Given the description of an element on the screen output the (x, y) to click on. 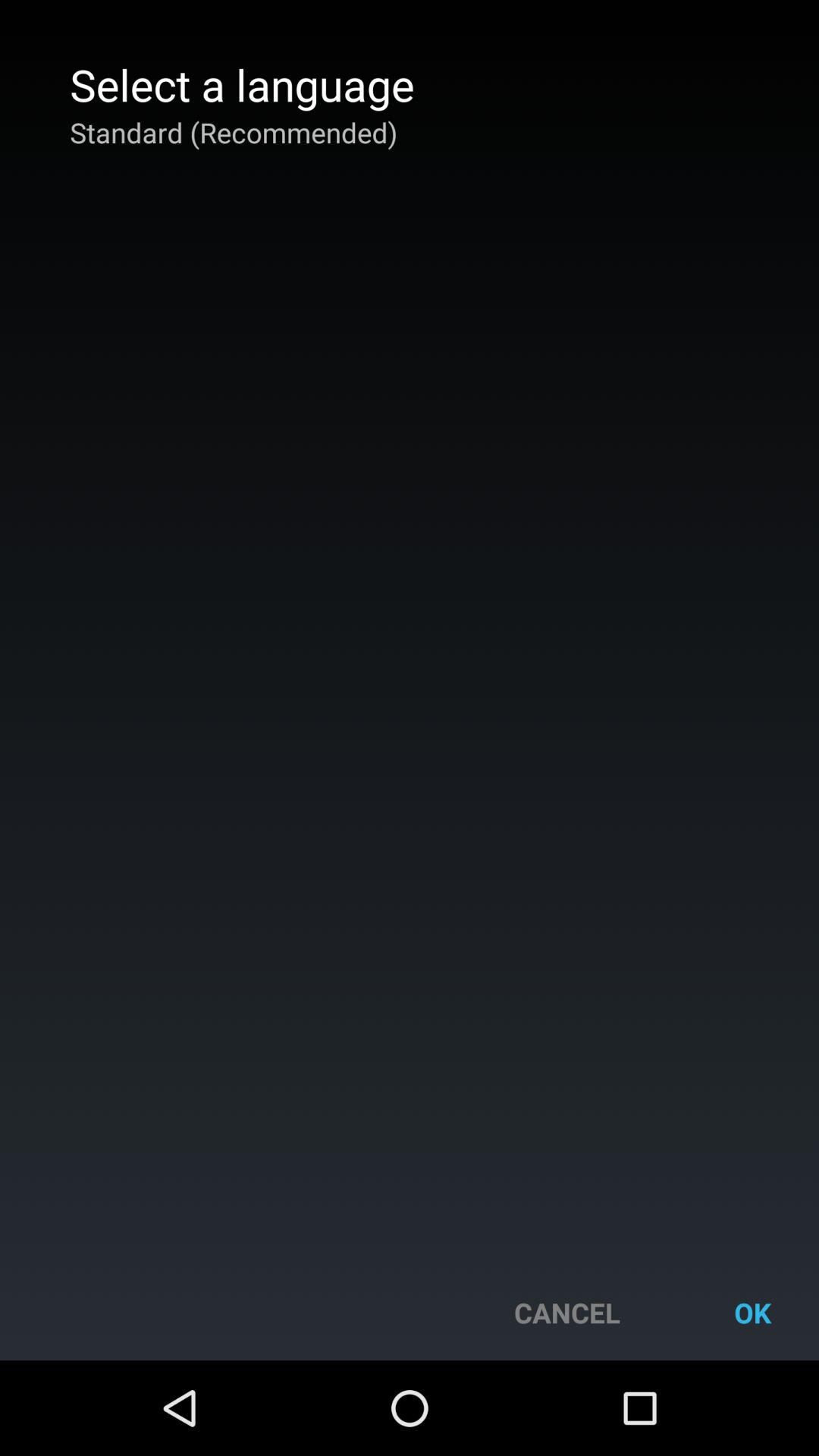
select icon to the left of the ok button (566, 1312)
